Given the description of an element on the screen output the (x, y) to click on. 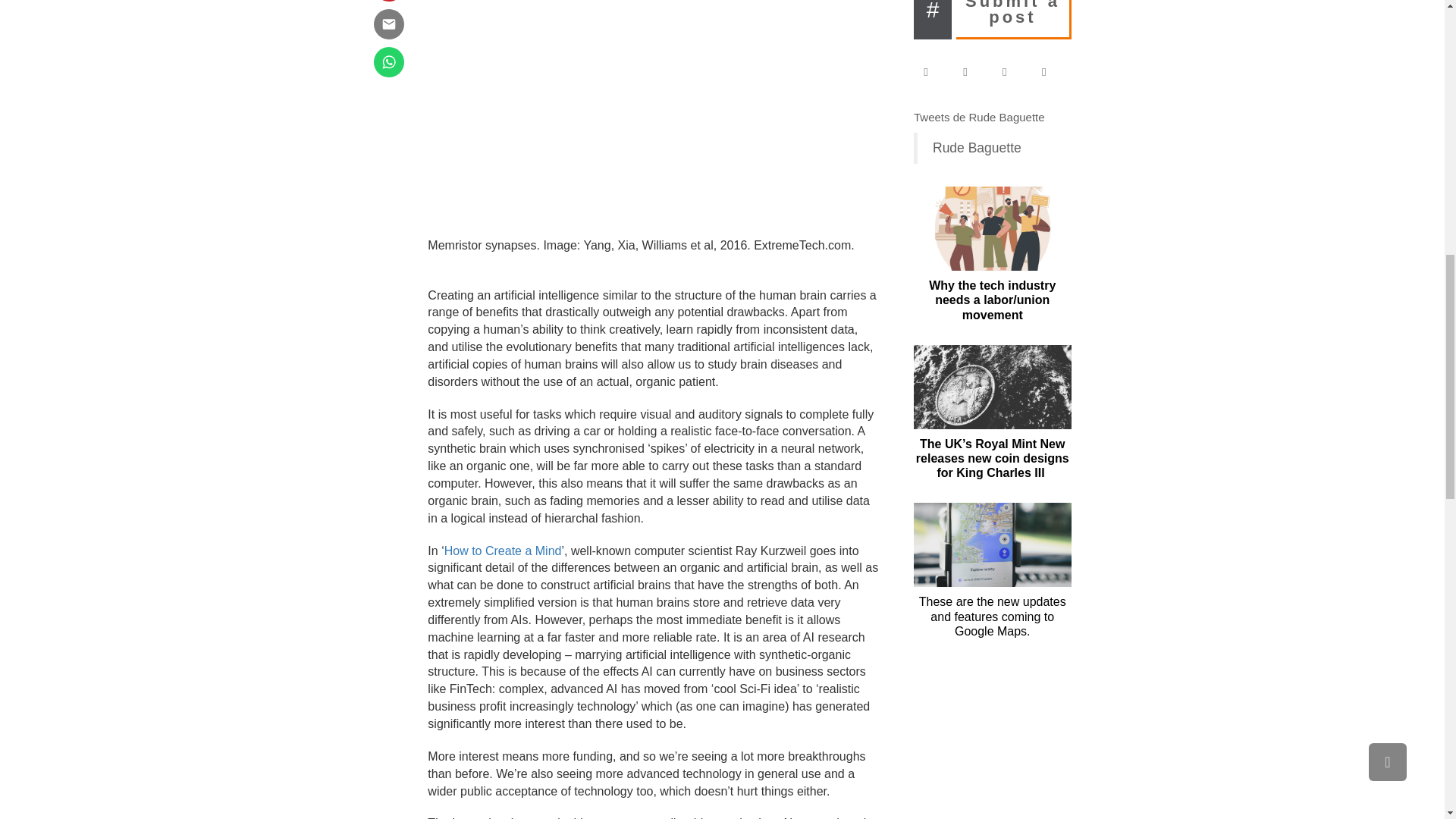
Tweets de Rude Baguette (979, 116)
Facebook (932, 71)
RSS (1050, 71)
How to Create a Mind (503, 550)
Twitter (972, 71)
LinkedIn (1011, 71)
Rude Baguette (977, 147)
